Given the description of an element on the screen output the (x, y) to click on. 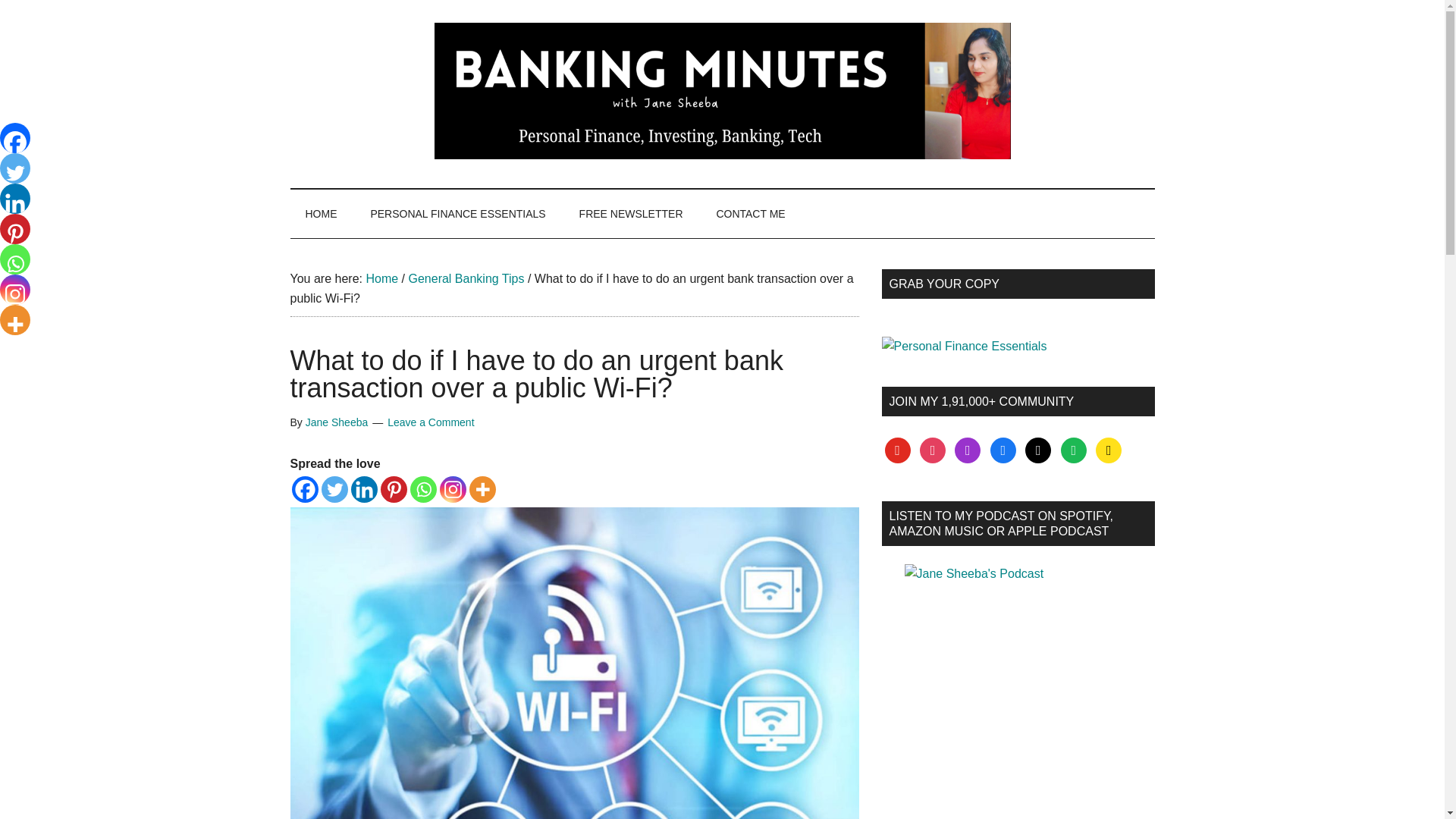
Linkedin (363, 488)
Whatsapp (422, 488)
General Banking Tips (465, 278)
Pinterest (393, 488)
Home (381, 278)
More (481, 488)
PERSONAL FINANCE ESSENTIALS (457, 213)
Pinterest (15, 228)
CONTACT ME (749, 213)
